Given the description of an element on the screen output the (x, y) to click on. 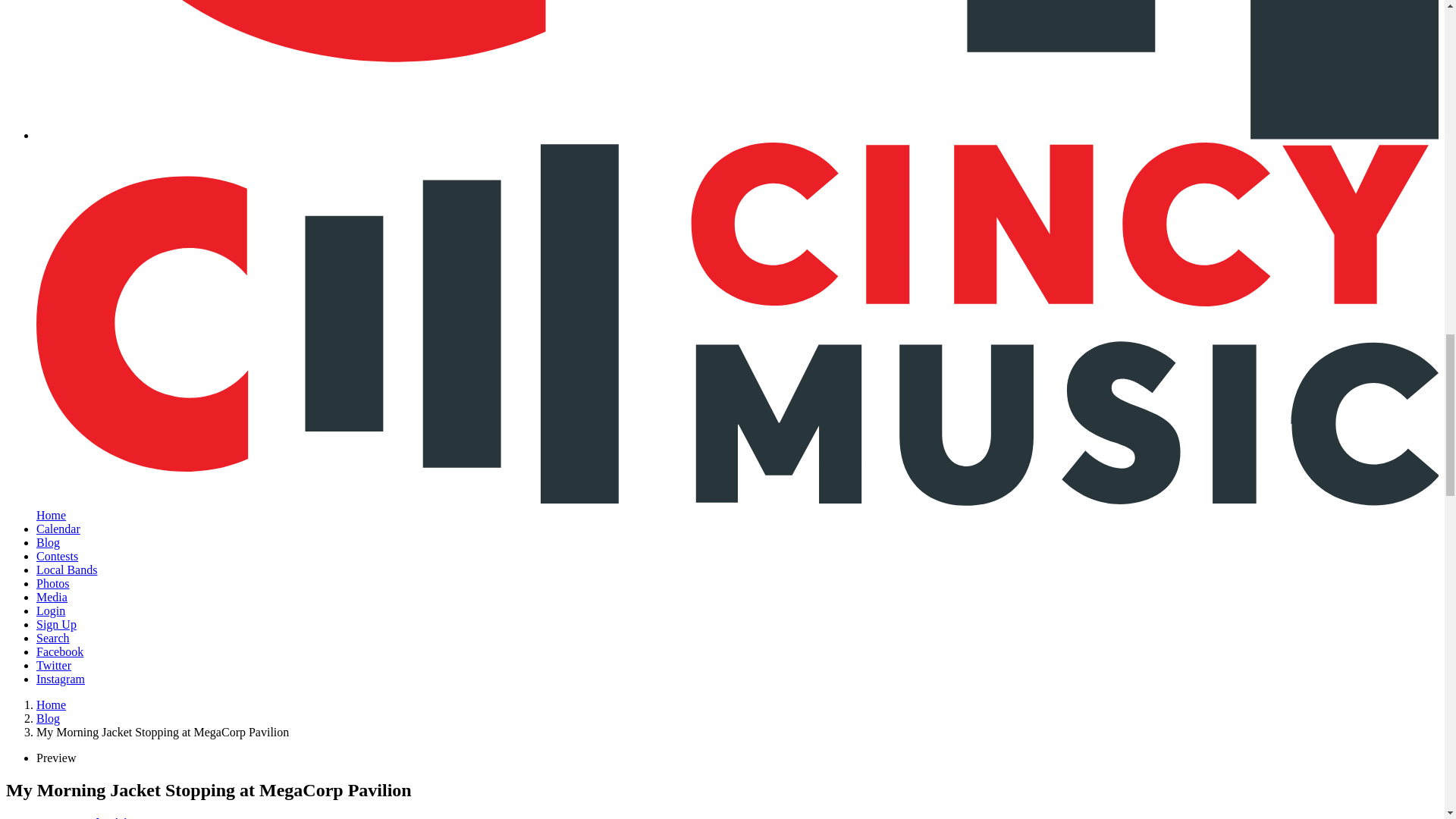
Facebook (59, 651)
Blog (47, 542)
Sign Up (56, 624)
Contests (57, 555)
Courtney Phenicie  (85, 817)
Home (50, 704)
Media (51, 596)
Calendar (58, 528)
Blog (47, 717)
Search (52, 637)
Local Bands (66, 569)
Photos (52, 583)
Twitter (53, 665)
Login (50, 610)
Instagram (60, 678)
